Given the description of an element on the screen output the (x, y) to click on. 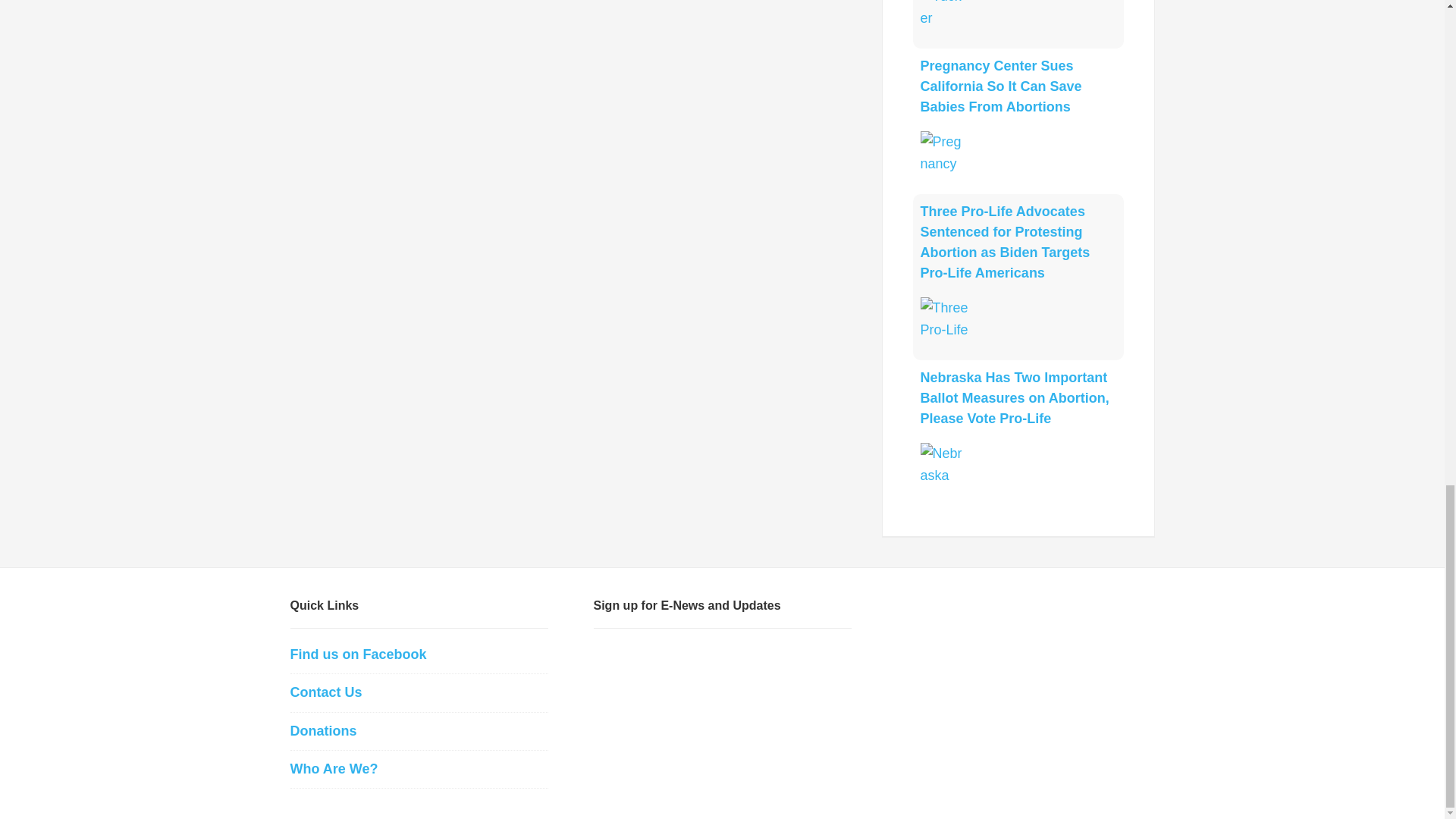
Contact Us (325, 692)
Find us on Facebook (357, 654)
